Given the description of an element on the screen output the (x, y) to click on. 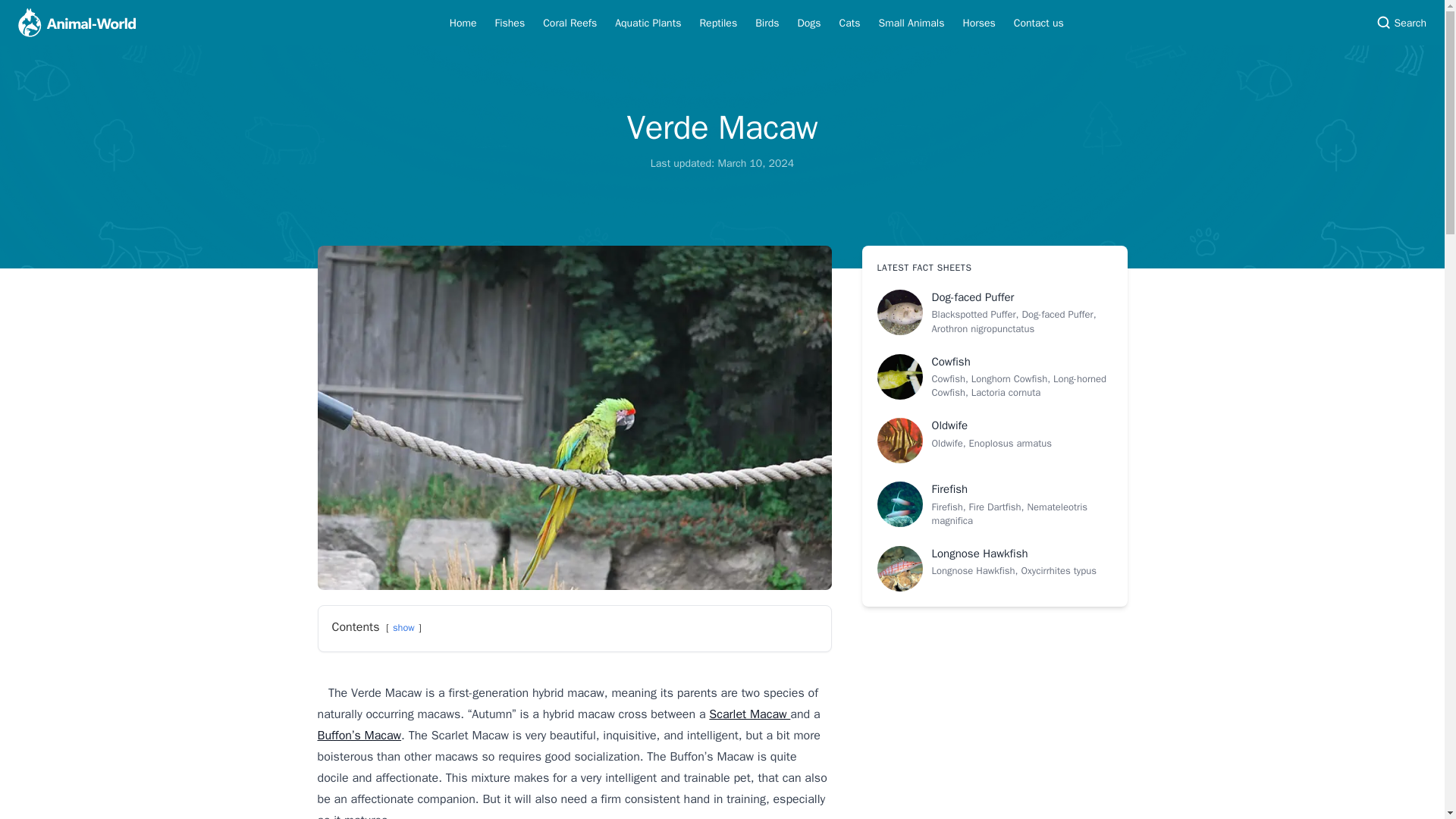
Small Animals (911, 23)
Animal World Logo (76, 22)
Reptiles (717, 23)
Cats (849, 23)
Aquatic Plants (647, 23)
Coral Reefs (569, 23)
Dogs (809, 23)
Horses (978, 23)
Home (463, 23)
show (403, 627)
Birds (766, 23)
Scarlet Macaw (749, 713)
Fishes (509, 23)
Contact us (1038, 23)
